Given the description of an element on the screen output the (x, y) to click on. 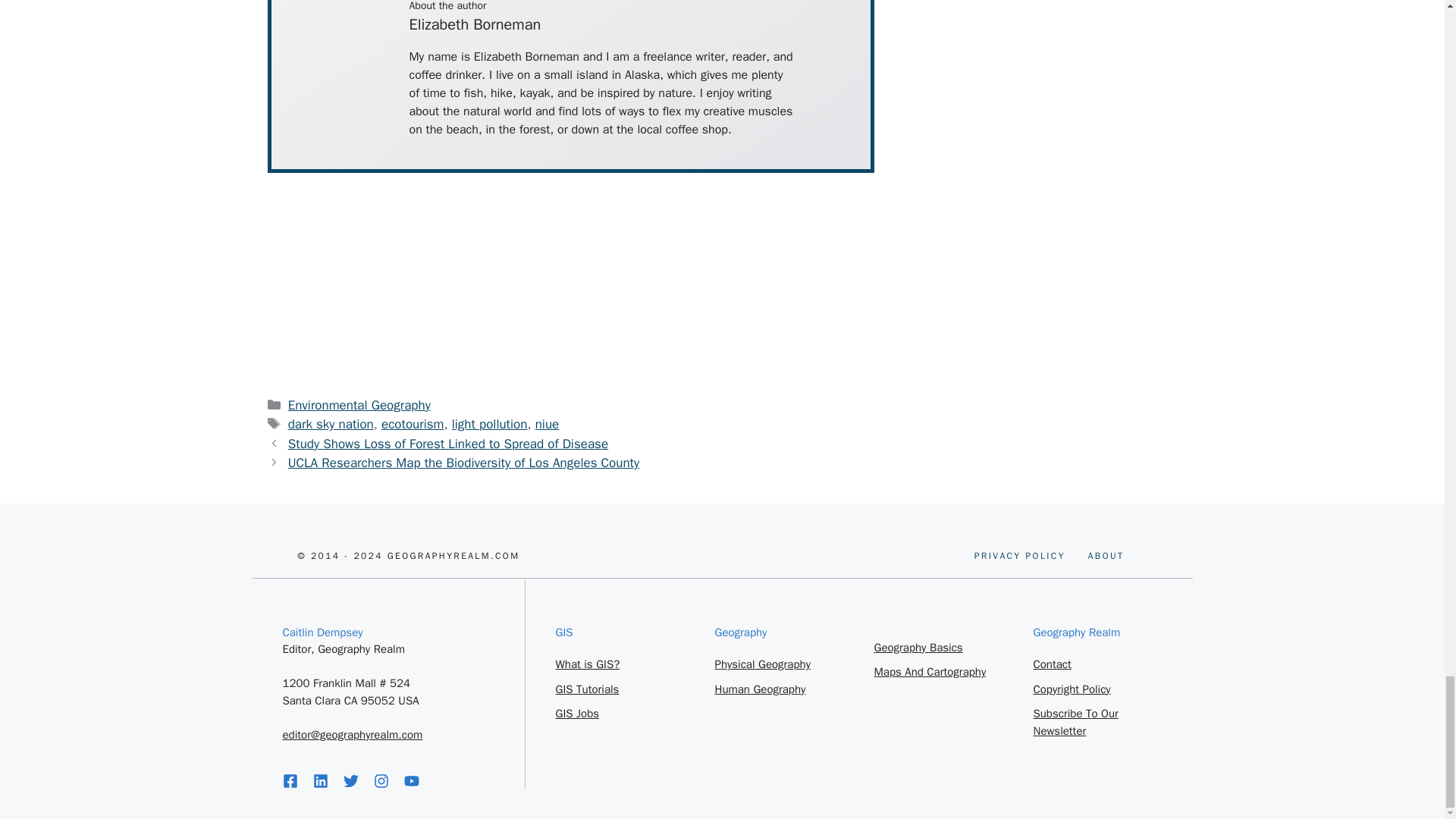
Study Shows Loss of Forest Linked to Spread of Disease (448, 443)
Environmental Geography (359, 405)
dark sky nation (331, 424)
PRIVACY POLICY (1019, 555)
UCLA Researchers Map the Biodiversity of Los Angeles County (1105, 555)
ecotourism (463, 462)
niue (412, 424)
light pollution (547, 424)
